Given the description of an element on the screen output the (x, y) to click on. 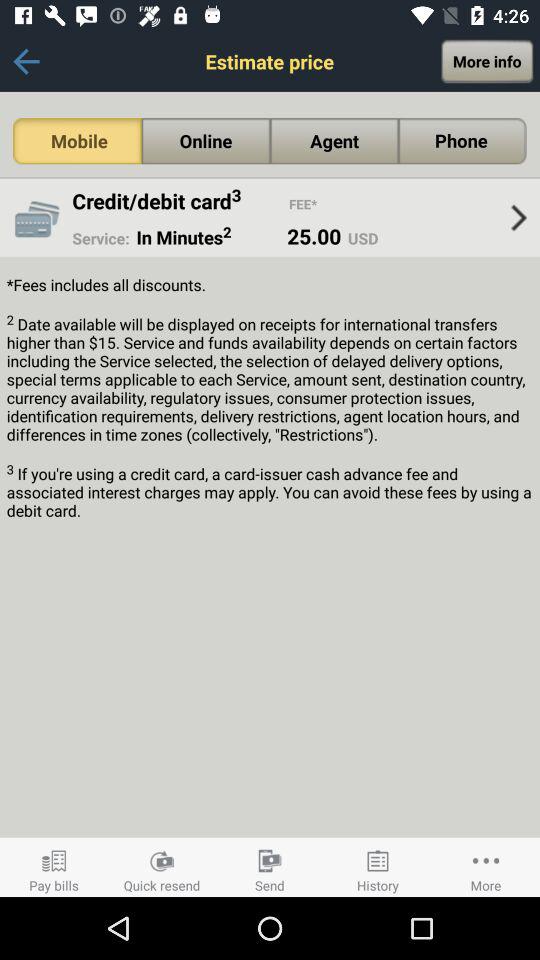
open the item next to fee* (180, 200)
